Given the description of an element on the screen output the (x, y) to click on. 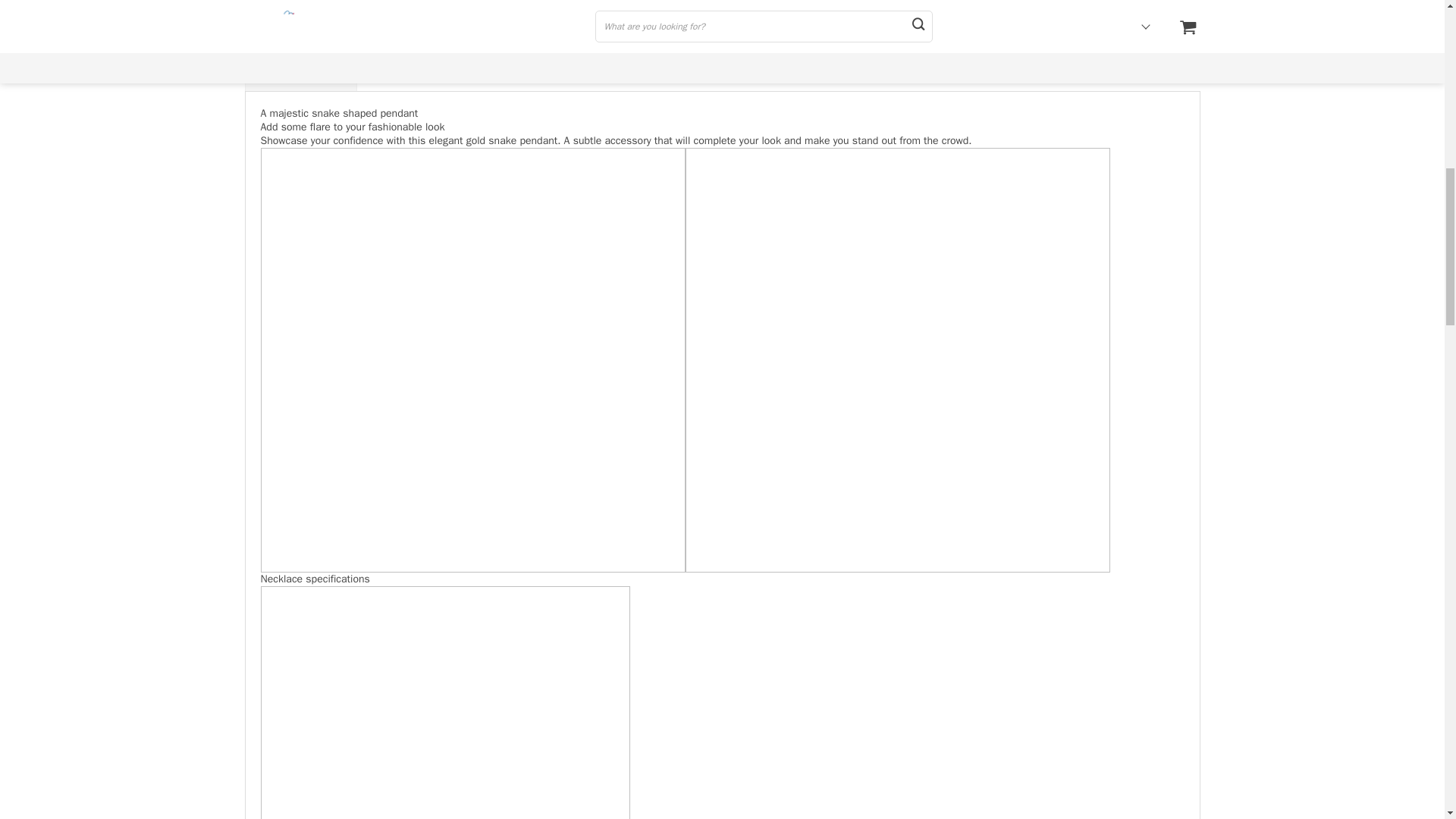
850-min (445, 702)
